Given the description of an element on the screen output the (x, y) to click on. 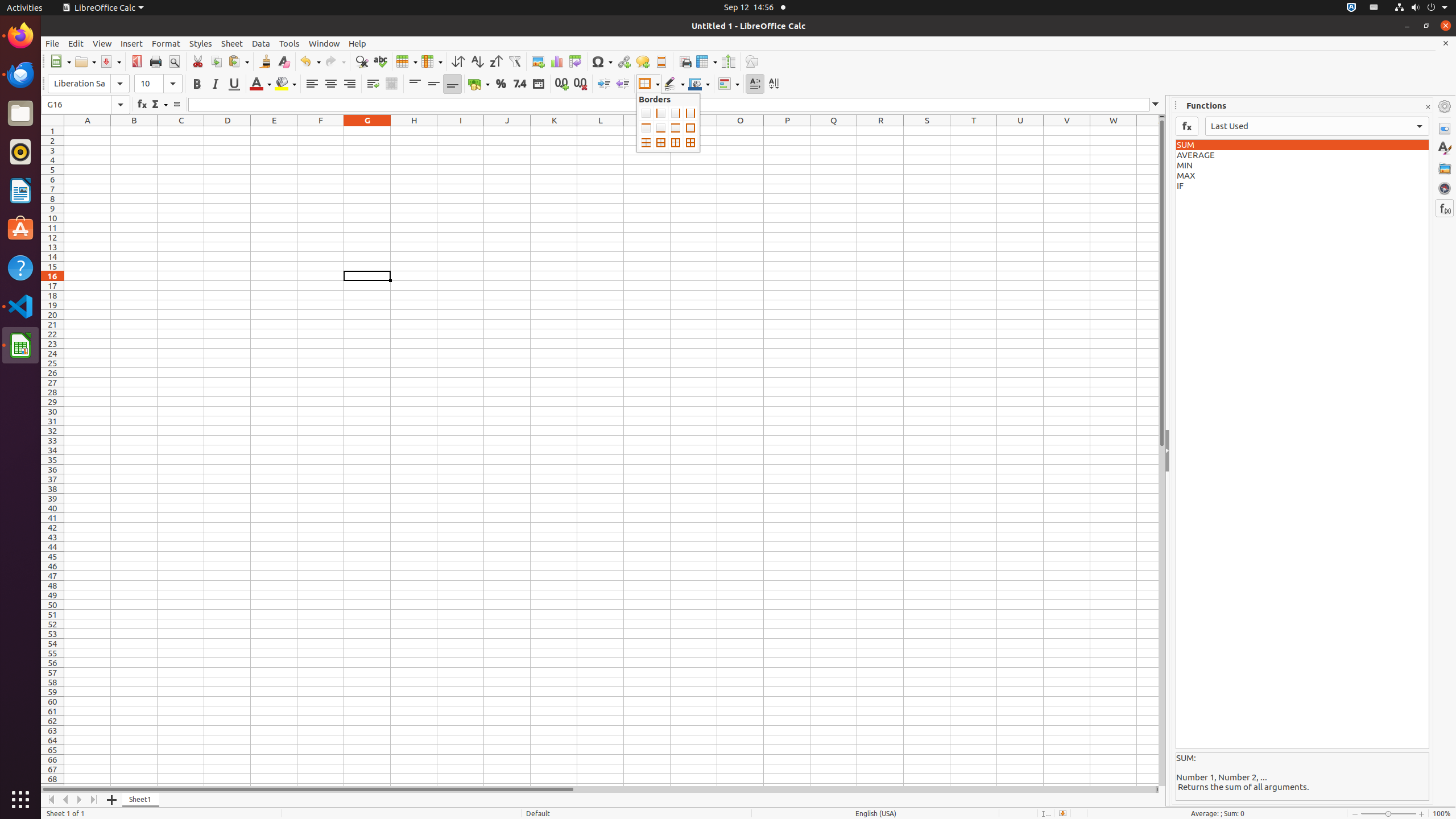
Move Right Element type: push-button (79, 799)
Open Element type: push-button (84, 61)
B1 Element type: table-cell (133, 130)
Navigator Element type: radio-button (1444, 188)
A1 Element type: table-cell (87, 130)
